Given the description of an element on the screen output the (x, y) to click on. 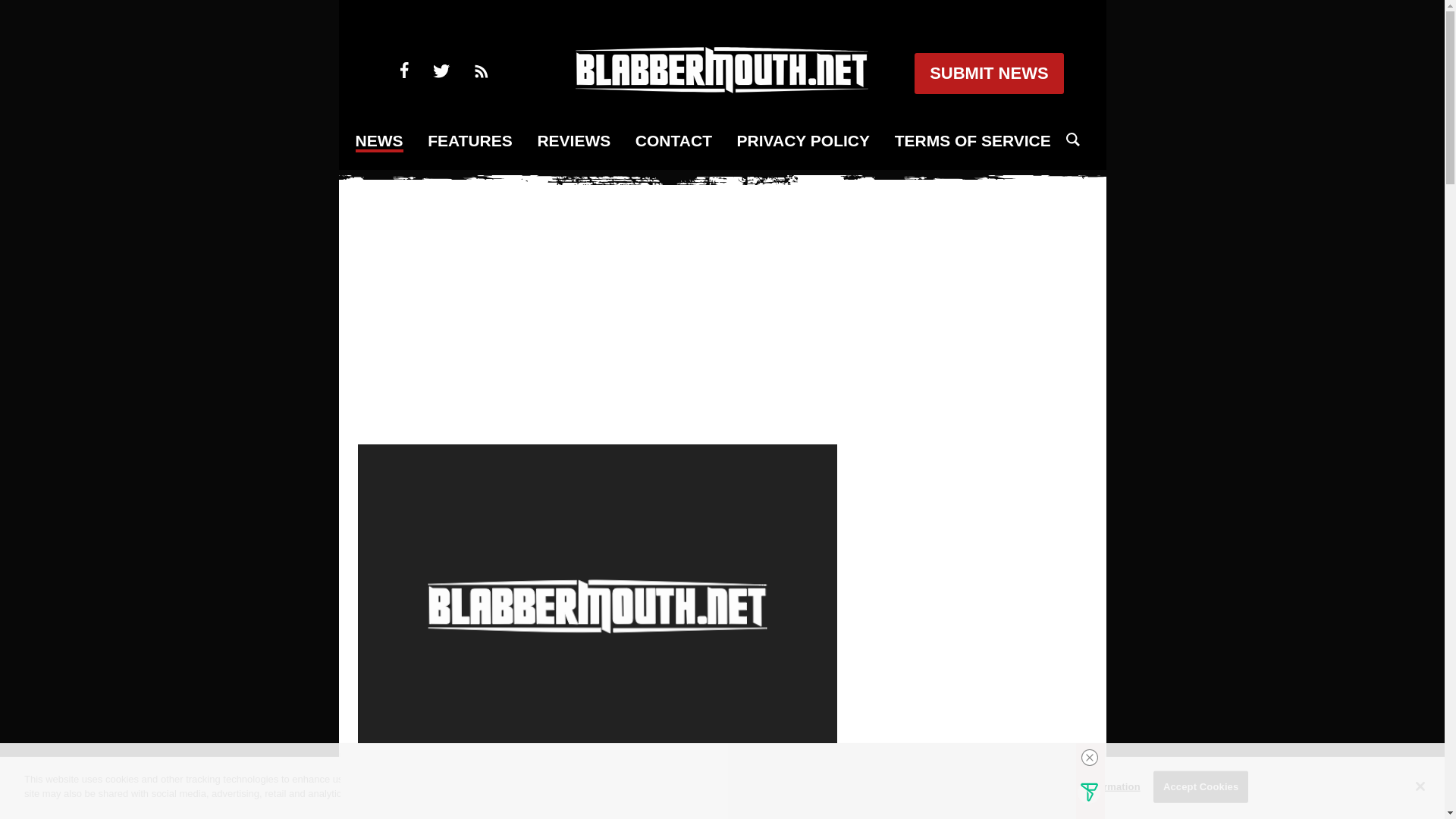
PRIVACY POLICY (802, 140)
blabbermouth (721, 88)
CONTACT (672, 140)
SUBMIT NEWS (988, 73)
FEATURES (470, 140)
search icon (1072, 139)
TERMS OF SERVICE (973, 140)
3rd party ad content (722, 310)
REVIEWS (573, 140)
NEWS (379, 141)
